Given the description of an element on the screen output the (x, y) to click on. 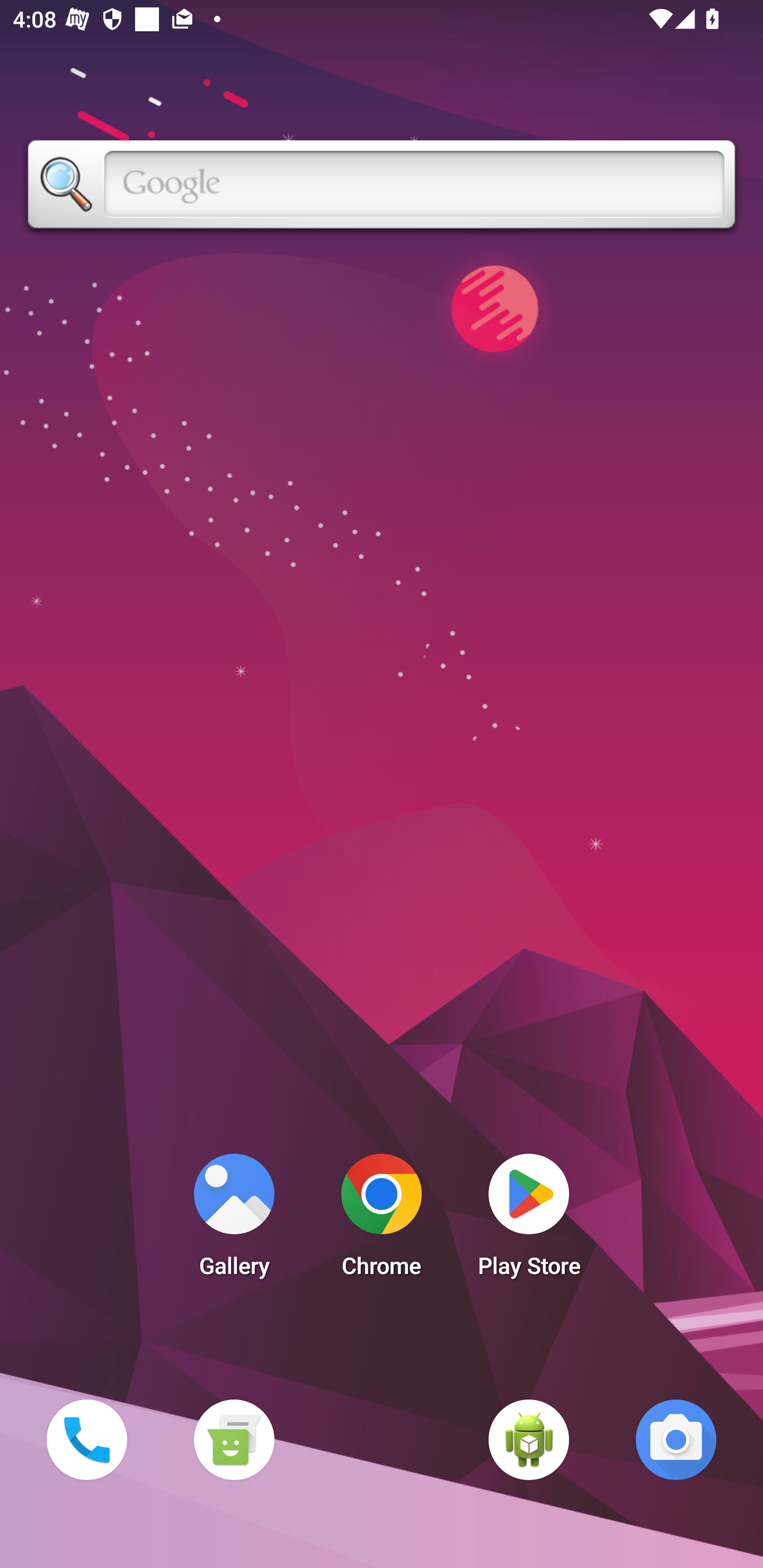
Gallery (233, 1220)
Chrome (381, 1220)
Play Store (528, 1220)
Phone (86, 1439)
Messaging (233, 1439)
WebView Browser Tester (528, 1439)
Camera (676, 1439)
